Given the description of an element on the screen output the (x, y) to click on. 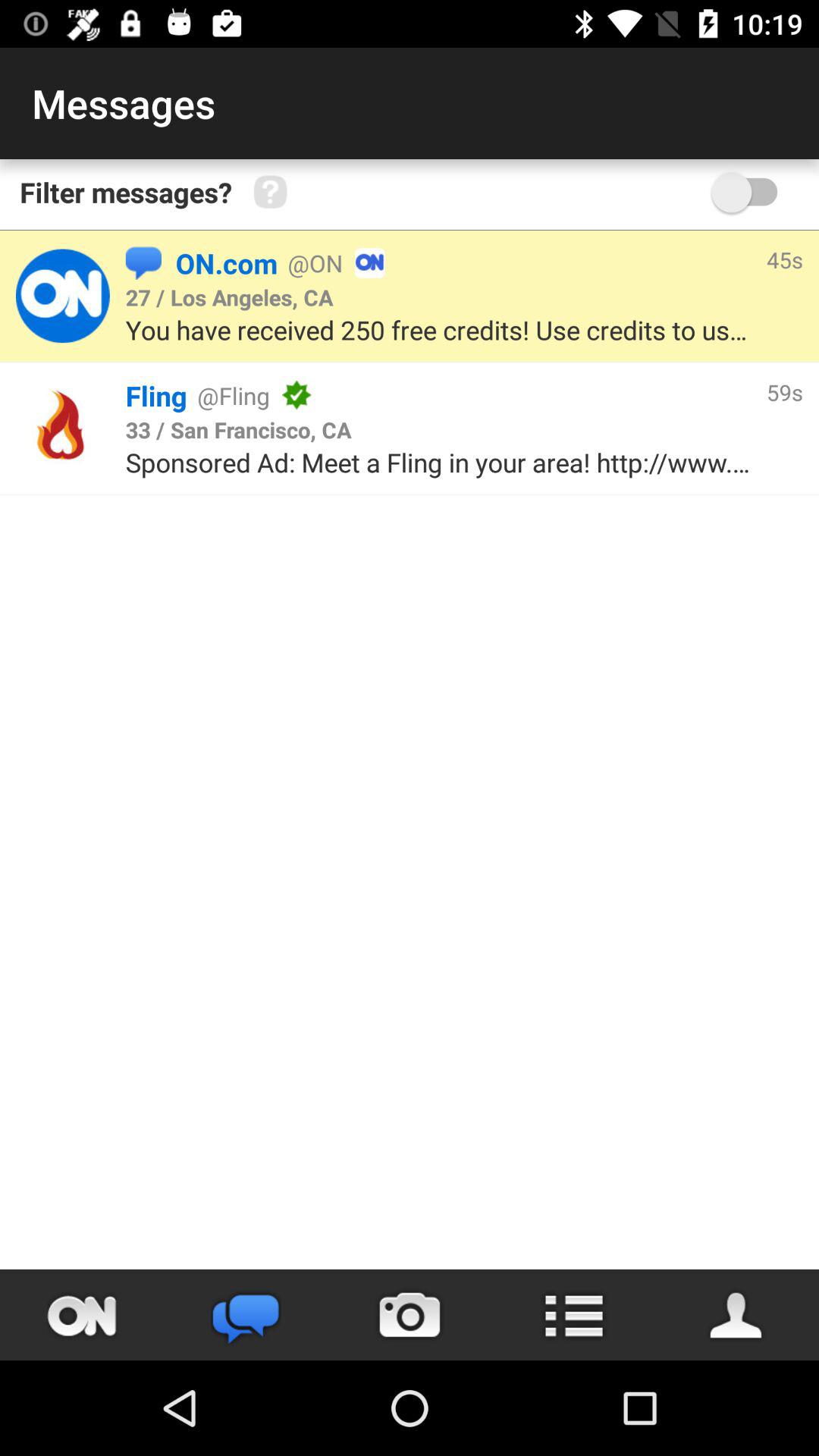
scroll until 27 los angeles (229, 297)
